Given the description of an element on the screen output the (x, y) to click on. 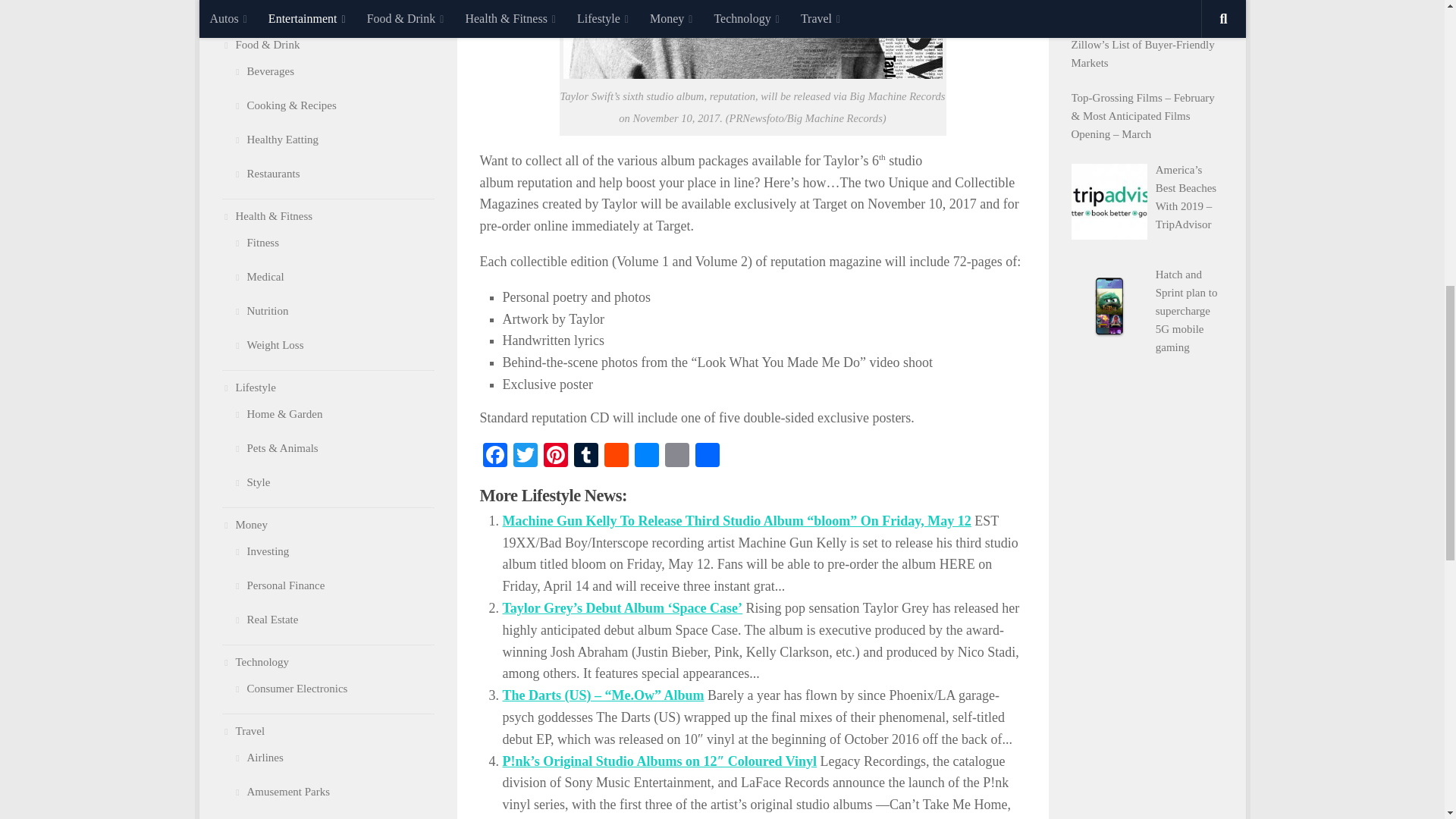
Reddit (614, 456)
Pinterest (555, 456)
Tumblr (584, 456)
Facebook (494, 456)
Twitter (524, 456)
